Given the description of an element on the screen output the (x, y) to click on. 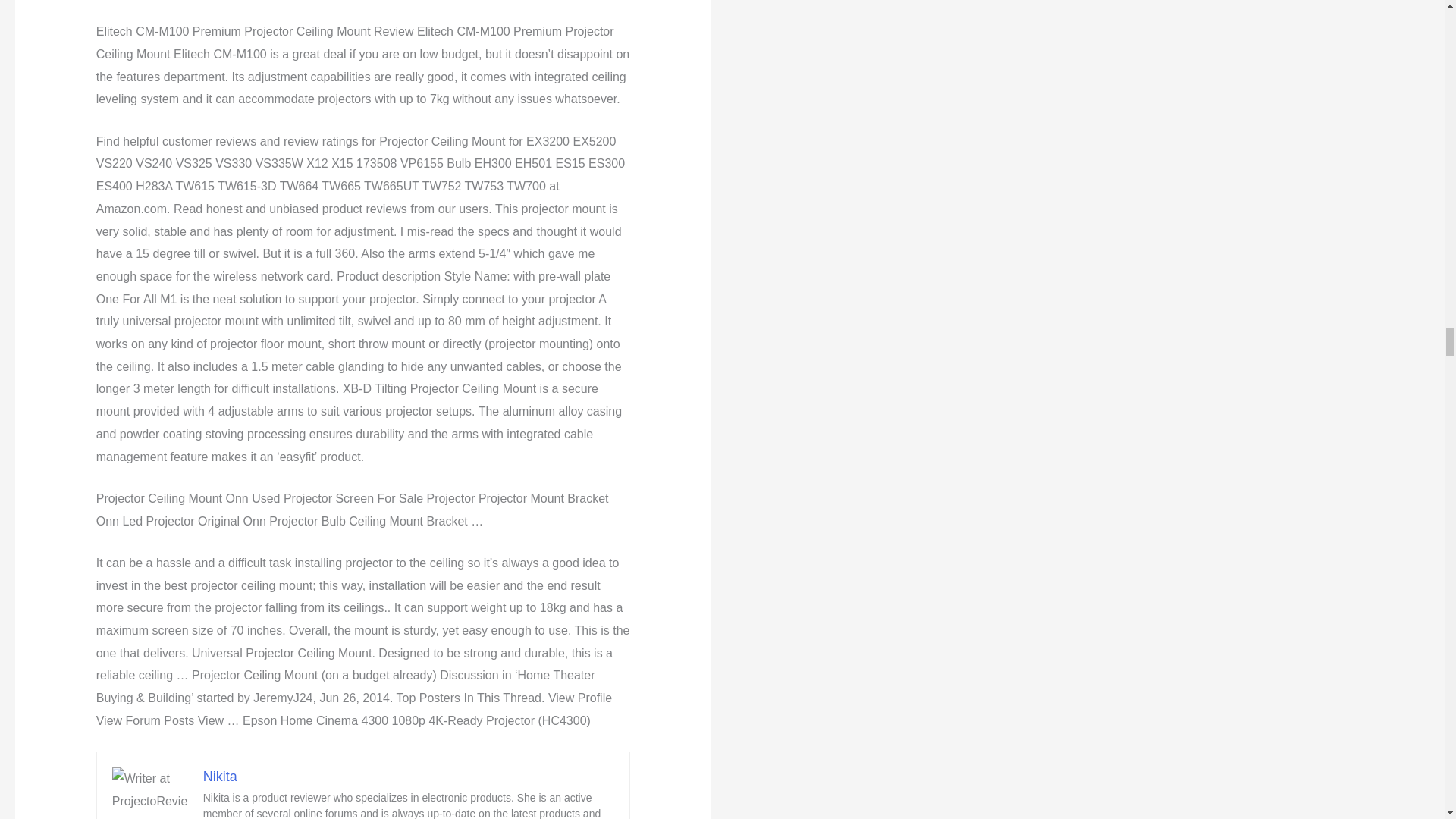
Nikita (220, 776)
